Given the description of an element on the screen output the (x, y) to click on. 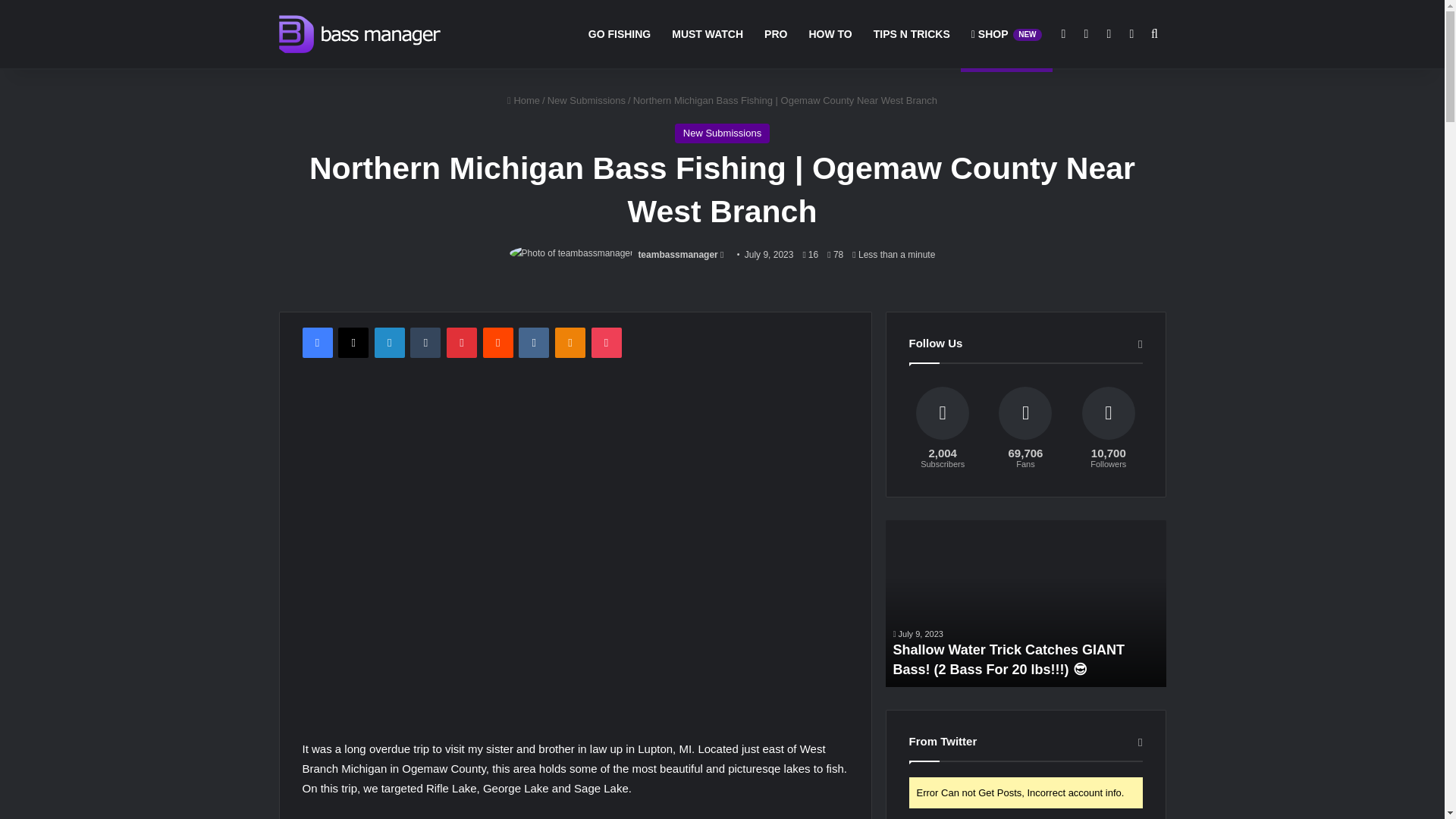
Tumblr (425, 342)
Pocket (606, 342)
MUST WATCH (707, 33)
Pinterest (461, 342)
GO FISHING (619, 33)
HOW TO (829, 33)
VKontakte (533, 342)
X (352, 342)
X (352, 342)
TIPS N TRICKS (911, 33)
